Given the description of an element on the screen output the (x, y) to click on. 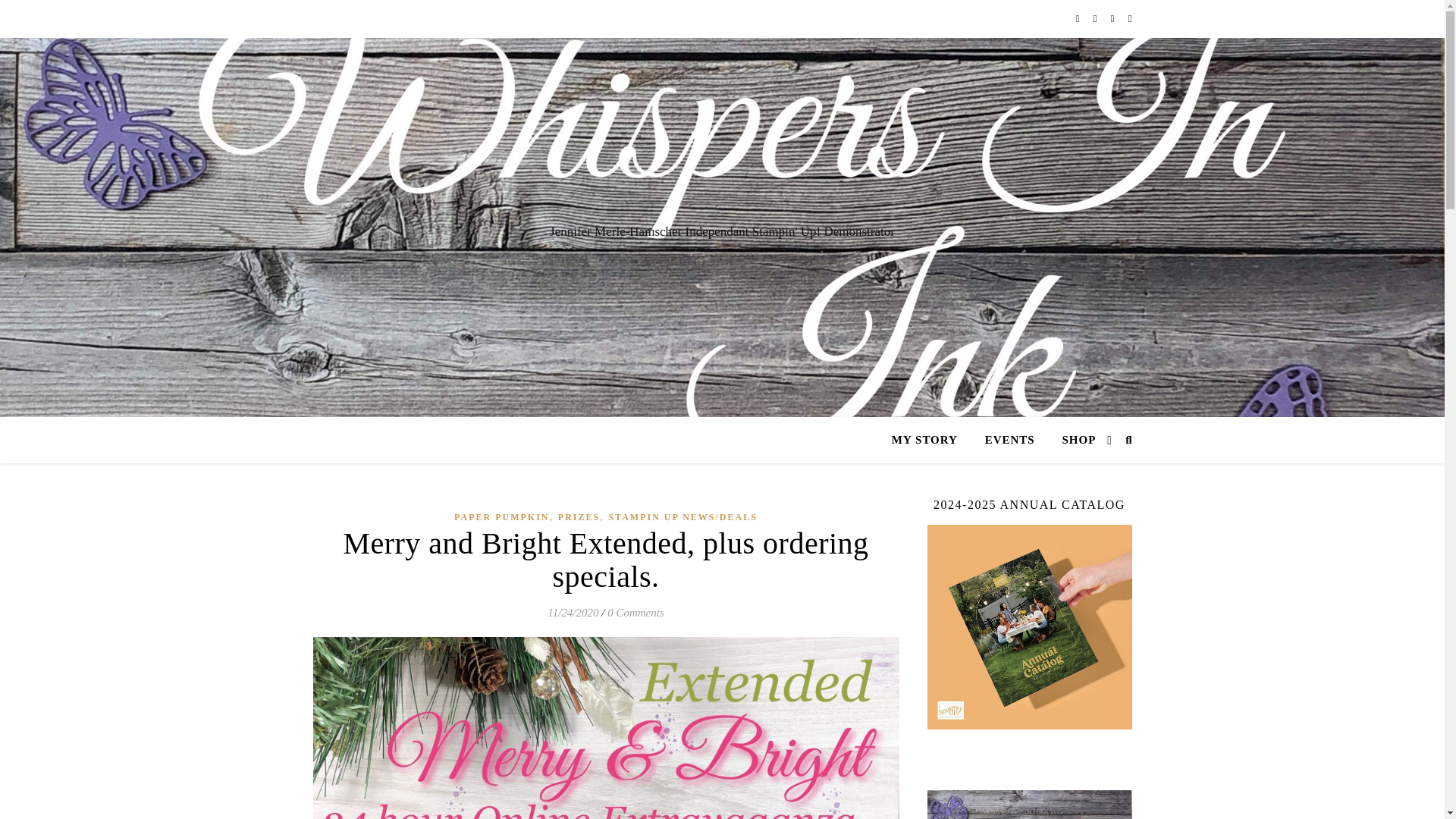
SHOP (1072, 439)
MY STORY (930, 439)
0 Comments (635, 612)
PRIZES (578, 517)
PAPER PUMPKIN (501, 517)
EVENTS (1009, 439)
